Given the description of an element on the screen output the (x, y) to click on. 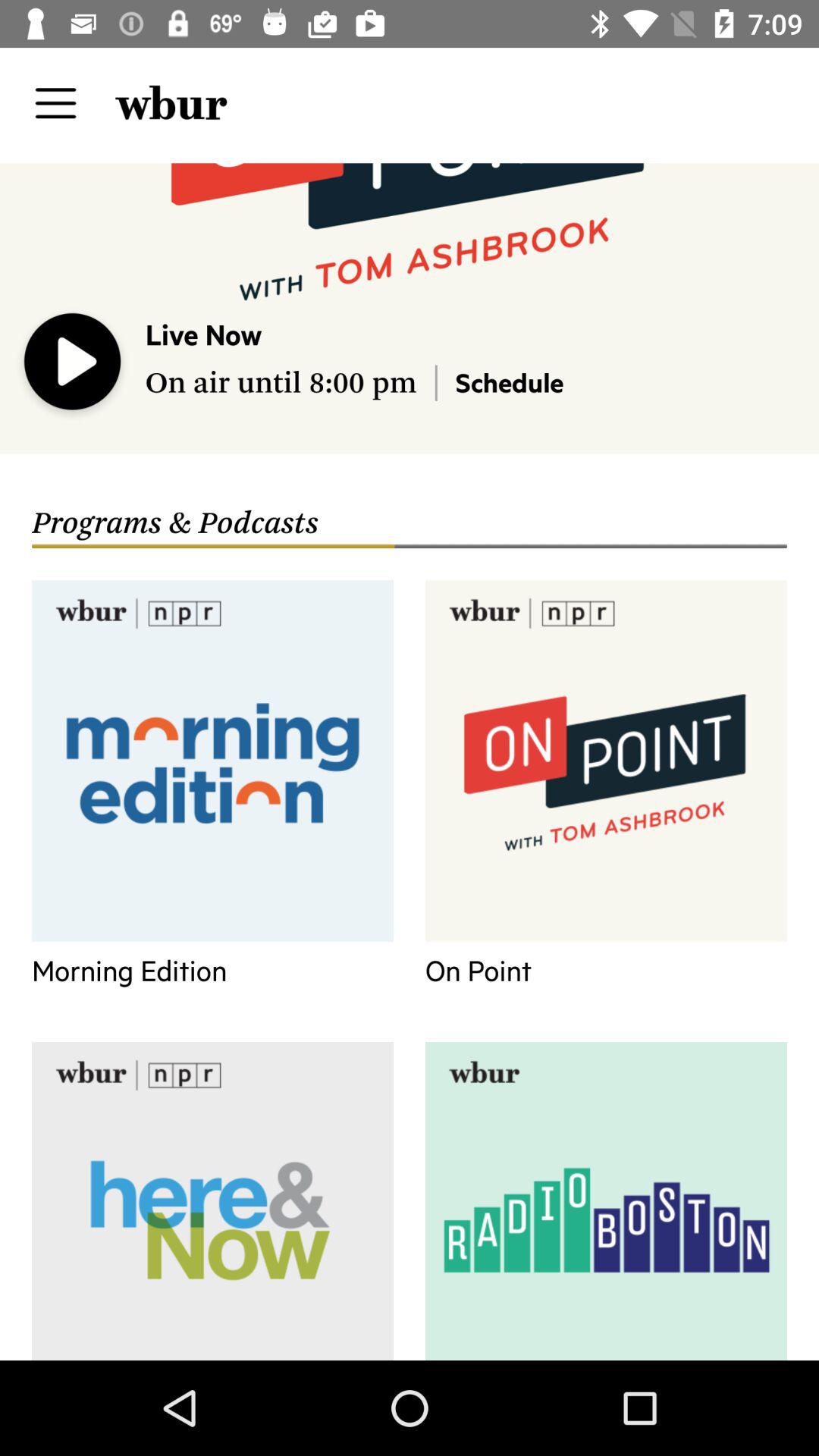
play (72, 365)
